Given the description of an element on the screen output the (x, y) to click on. 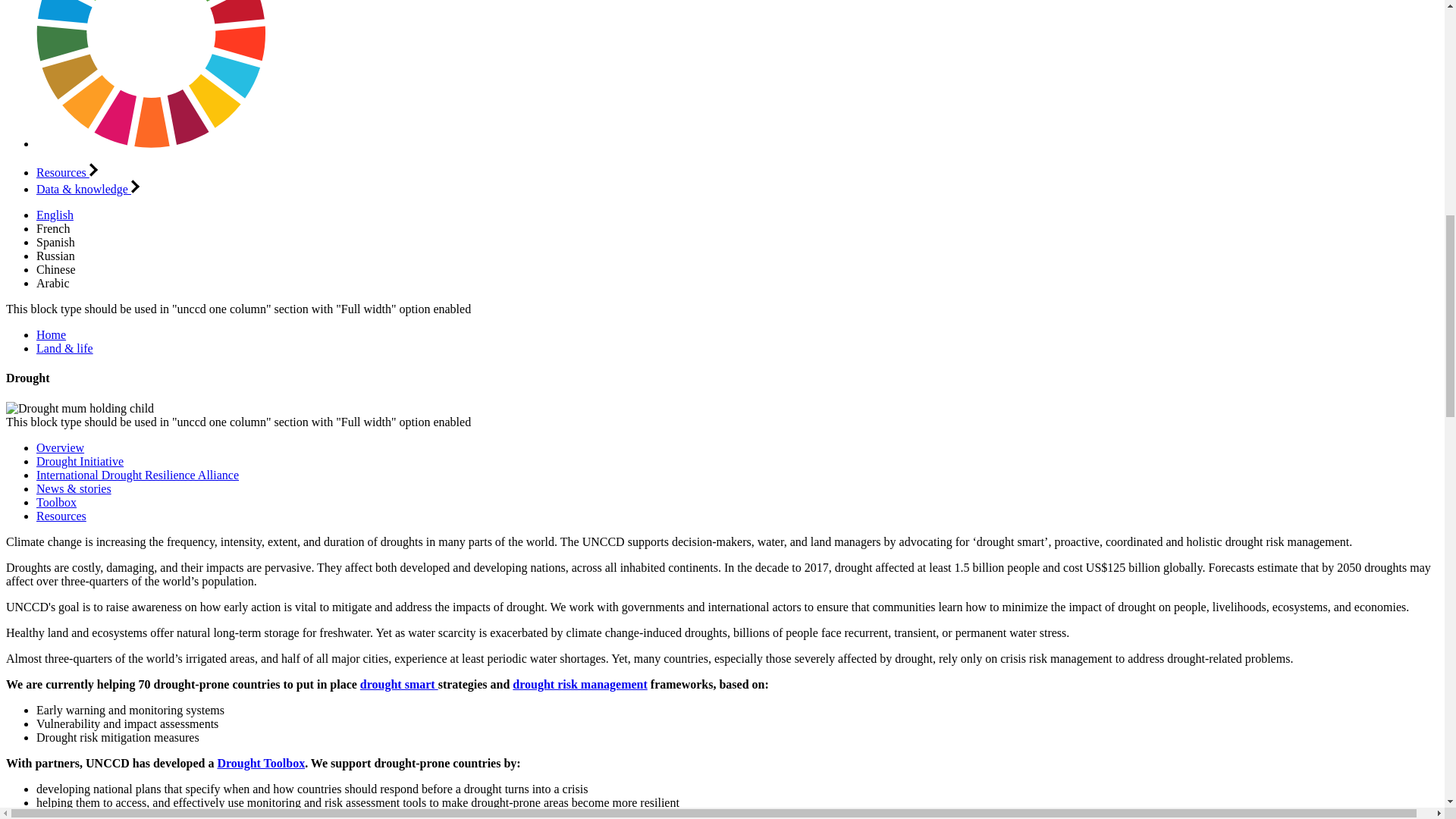
Chinese (55, 269)
Drought Initiative (79, 461)
Arabic (52, 282)
Overview (60, 447)
Spanish (55, 241)
Resources (60, 515)
International Drought Resilience Alliance (137, 474)
Russian (55, 255)
English (55, 214)
Resources (66, 172)
